Given the description of an element on the screen output the (x, y) to click on. 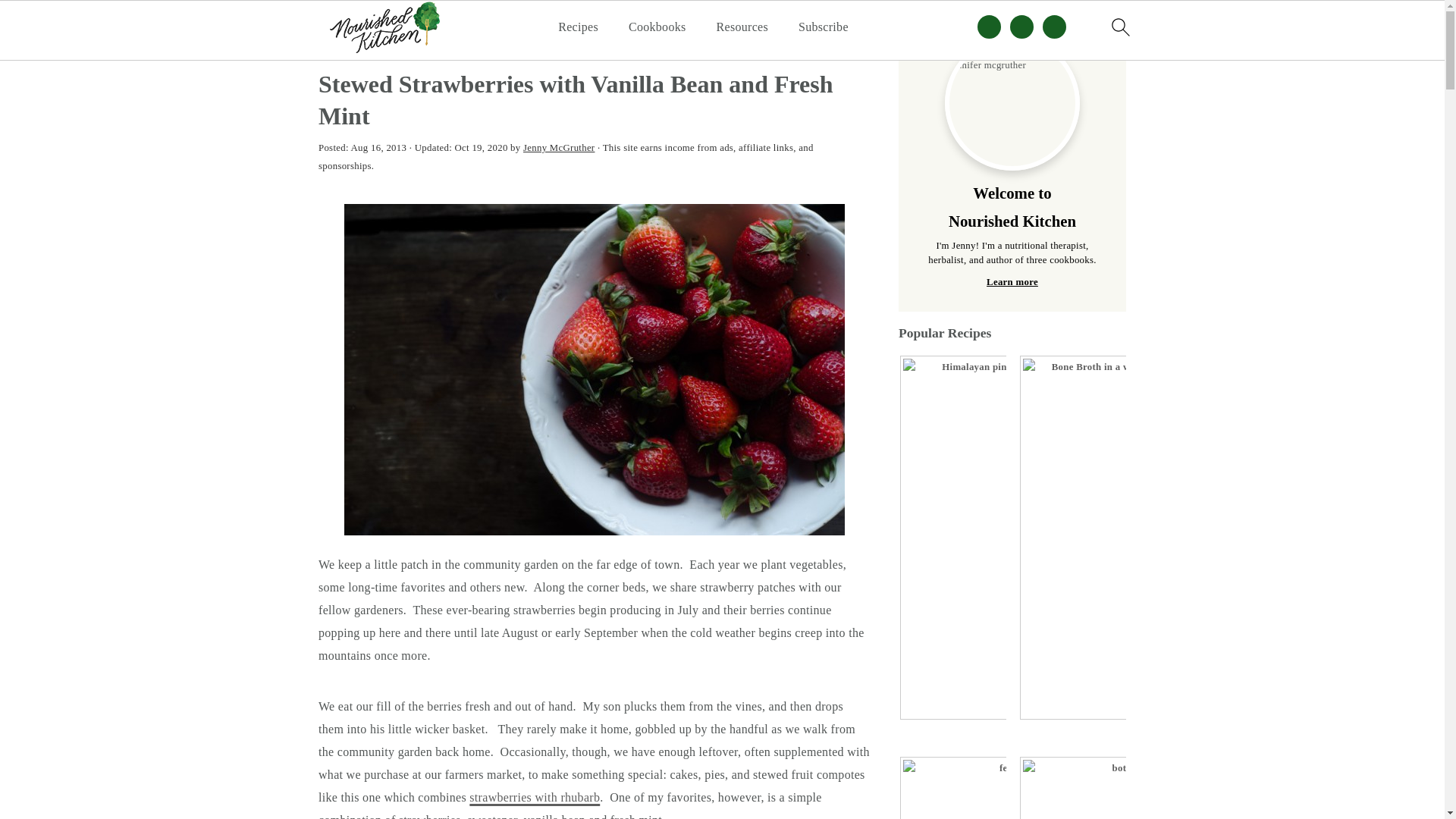
Subscribe (822, 26)
Home (338, 47)
search icon (1119, 26)
Resources (742, 26)
Cookbooks (656, 26)
Recipes (577, 26)
strawberries with rhubarb (533, 797)
Jenny McGruther (558, 147)
Spring Fruit Recipes (446, 47)
